Given the description of an element on the screen output the (x, y) to click on. 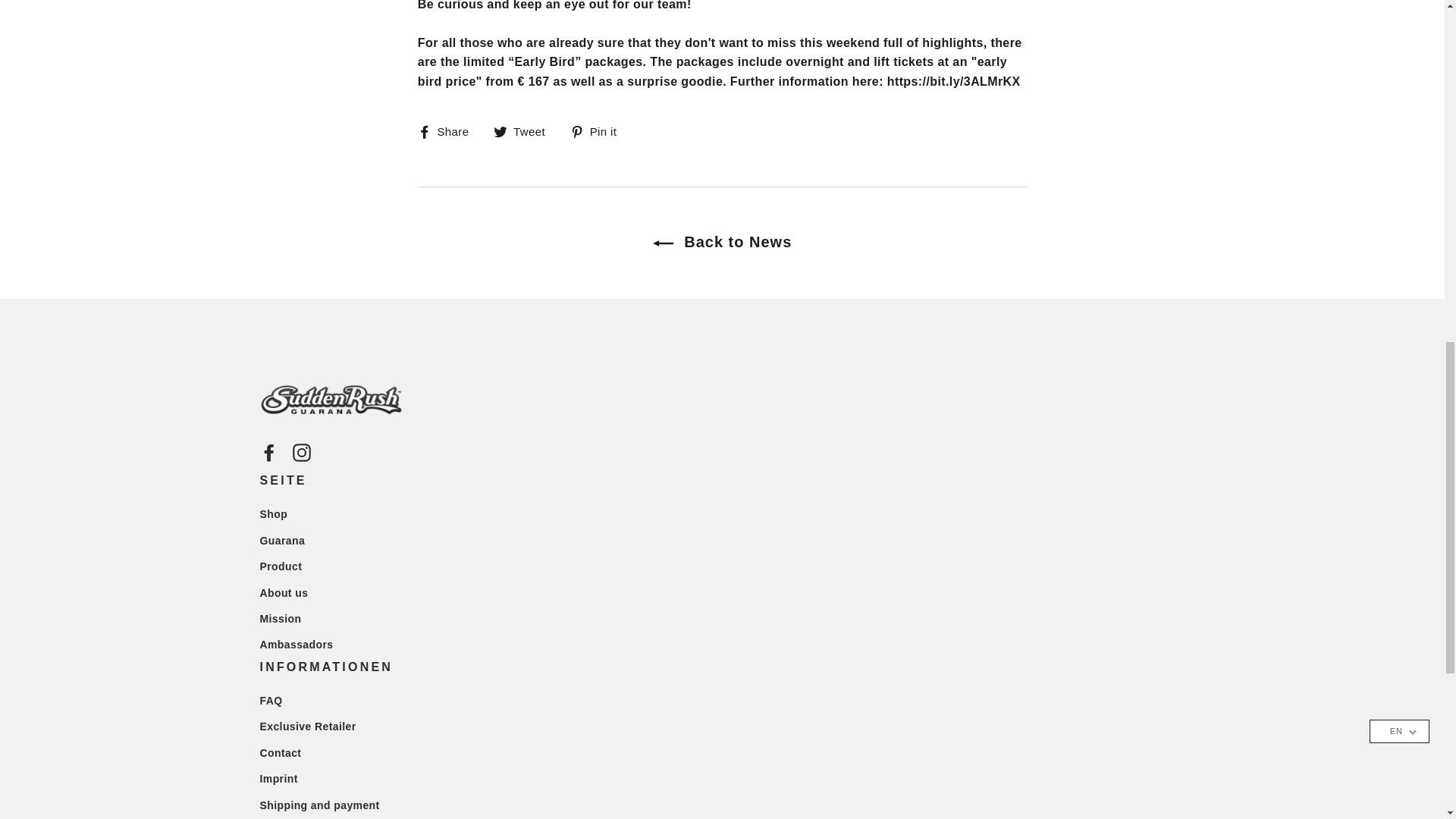
SuddenRush Shop - The Natural Energy Shot on Facebook (268, 451)
SuddenRush Shop - The Natural Energy Shot on Instagram (301, 451)
Share on Facebook (448, 131)
Tweet on Twitter (524, 131)
Pin on Pinterest (598, 131)
